Given the description of an element on the screen output the (x, y) to click on. 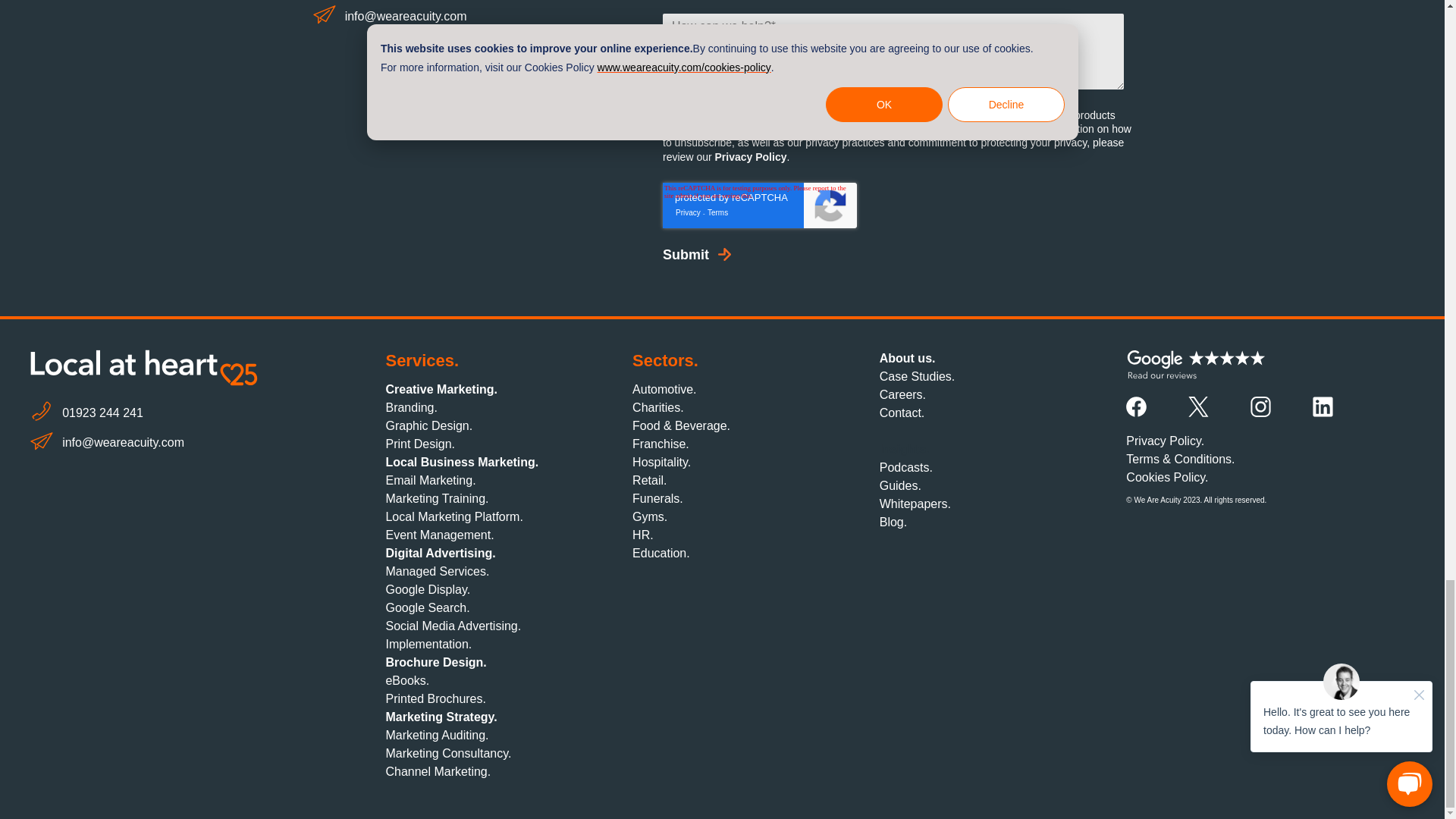
footer-google-review (1195, 364)
footer-X-02 (1198, 406)
reCAPTCHA (759, 205)
footer-local-at-heart-1 (143, 367)
Submit (685, 255)
Instagram Link - We Are Acuity (1260, 406)
01923 244 241 (181, 412)
footer-fb-02 (1136, 406)
LinkedIn Link - We Are Acuity (1323, 406)
